Given the description of an element on the screen output the (x, y) to click on. 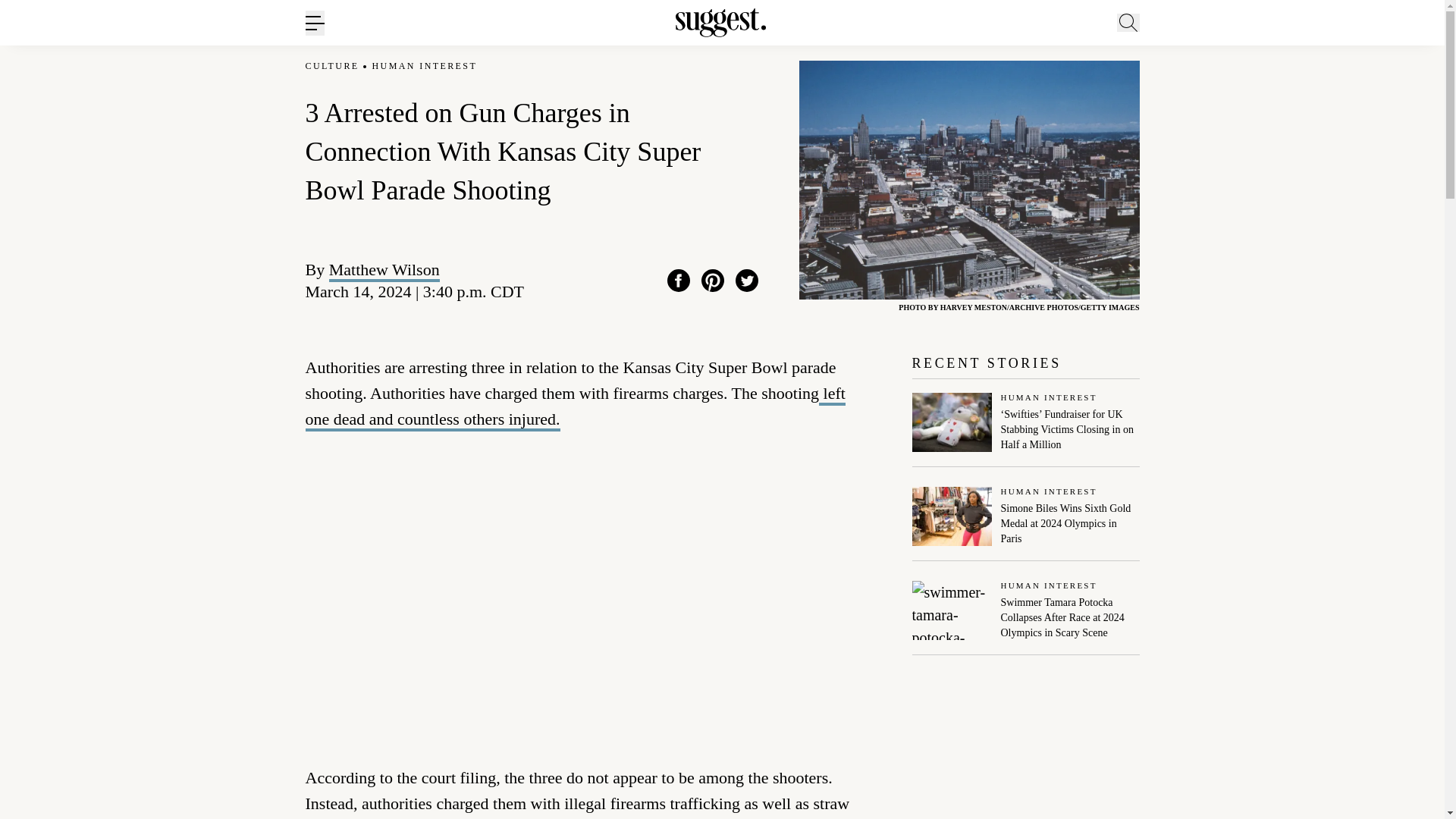
HUMAN INTEREST (424, 66)
Twitter (746, 280)
Facebook (678, 280)
Human Interest (1070, 586)
Simone Biles Wins Sixth Gold Medal at 2024 Olympics in Paris (1070, 524)
Human Interest (1070, 491)
Matthew Wilson (384, 269)
Search (1170, 95)
Human Interest (1070, 398)
left one dead and countless others injured. (574, 407)
Pinterest (712, 280)
CULTURE (331, 66)
